Given the description of an element on the screen output the (x, y) to click on. 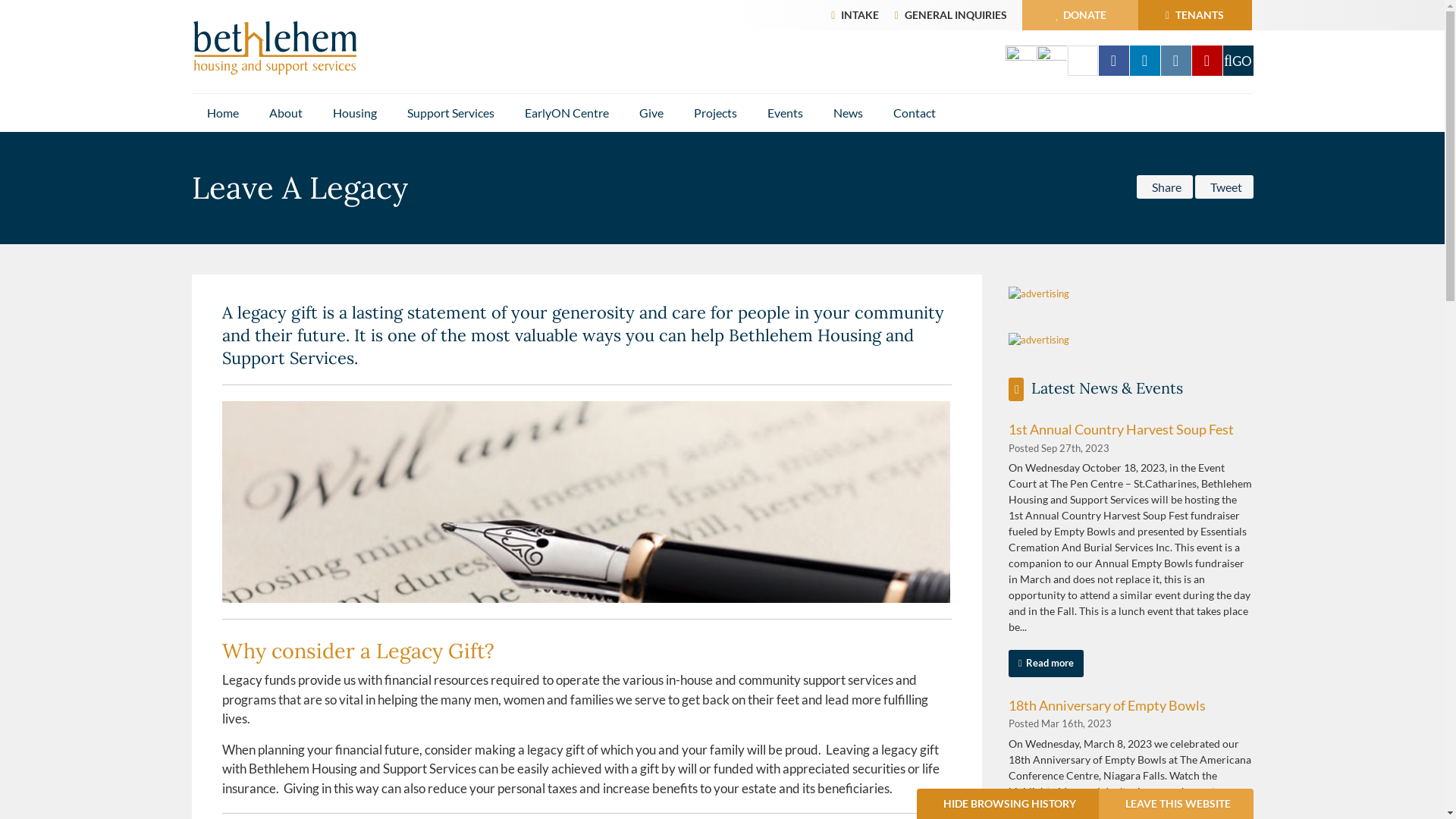
Events Element type: text (785, 112)
1st Annual Country Harvest Soup Fest Element type: text (1120, 428)
Tweet Element type: text (1224, 186)
Share Element type: text (1163, 186)
DONATE Element type: text (1080, 15)
About Element type: text (284, 112)
Give Element type: text (650, 112)
 TENANTS Element type: text (1194, 15)
submit Element type: text (1237, 60)
Home Element type: text (222, 112)
Contact Element type: text (914, 112)
GENERAL INQUIRIES Element type: text (954, 15)
Projects Element type: text (714, 112)
Support Services Element type: text (449, 112)
INTAKE Element type: text (859, 15)
EarlyON Centre Element type: text (566, 112)
Housing Element type: text (353, 112)
Read more Element type: text (1045, 663)
18th Anniversary of Empty Bowls Element type: text (1106, 704)
Twitter Element type: text (1082, 60)
News Element type: text (847, 112)
